Given the description of an element on the screen output the (x, y) to click on. 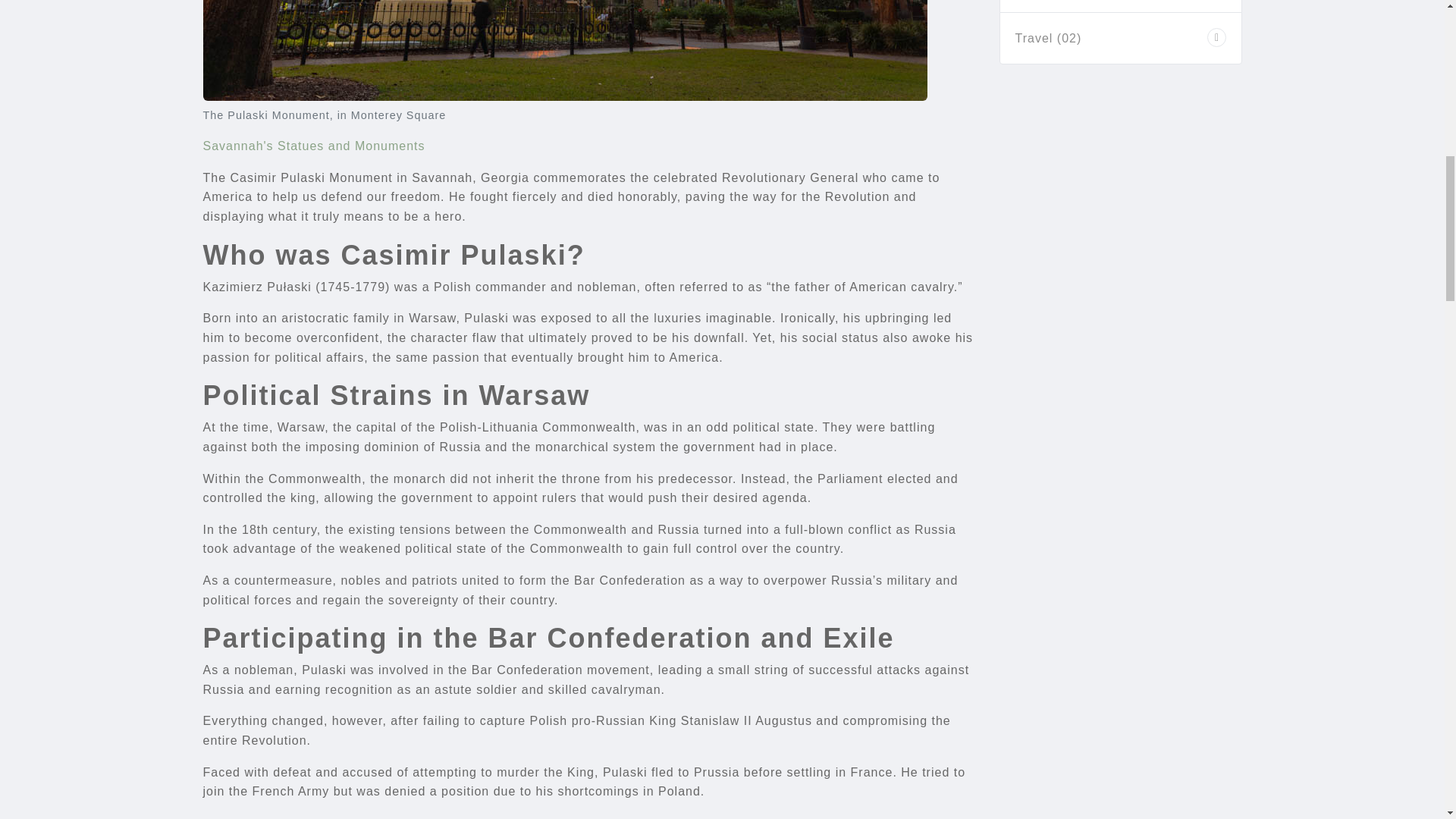
Savannah's Statues and Monuments (314, 145)
